Given the description of an element on the screen output the (x, y) to click on. 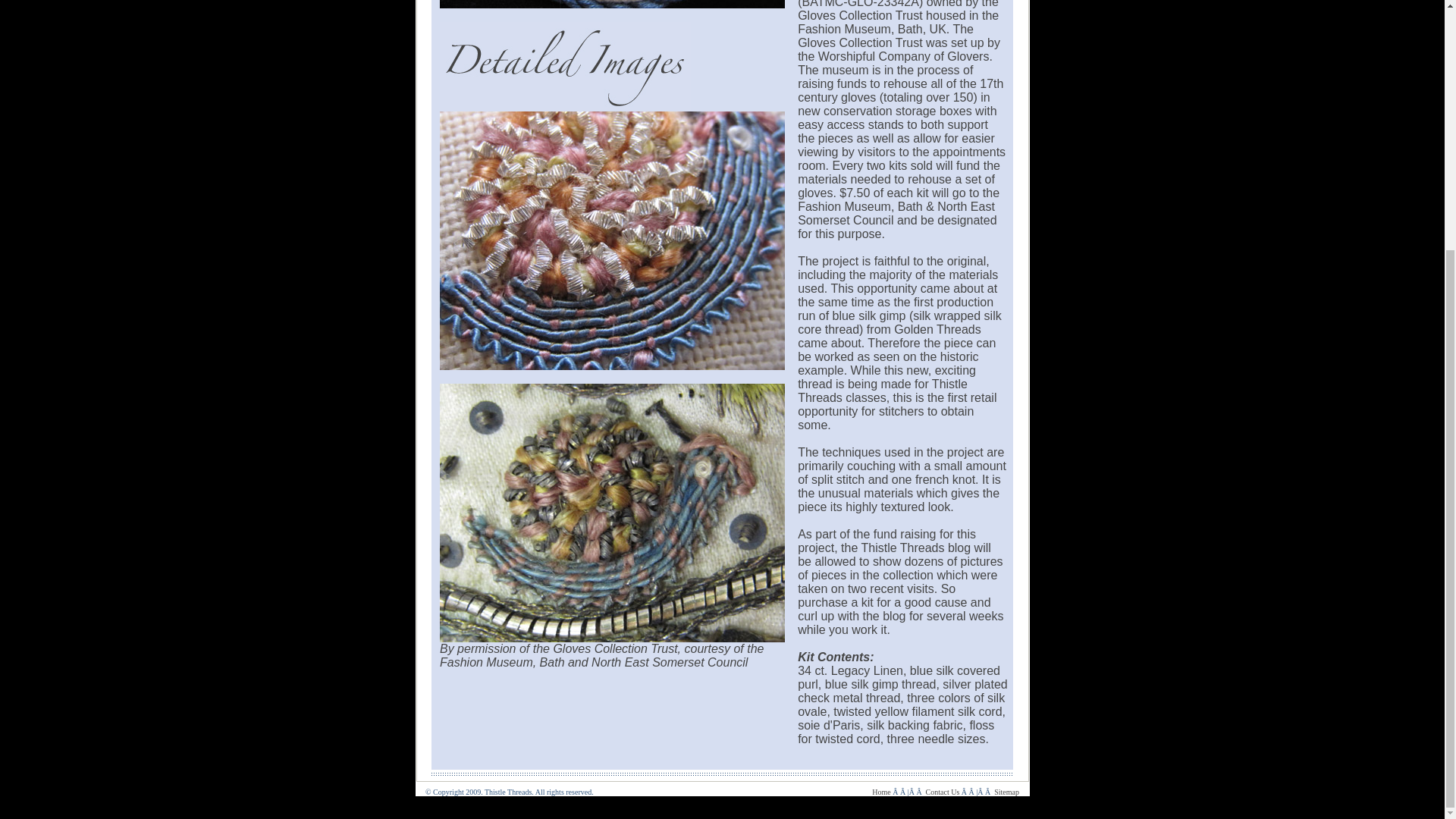
Contact Us (942, 791)
Home (880, 791)
Sitemap (1006, 791)
